Given the description of an element on the screen output the (x, y) to click on. 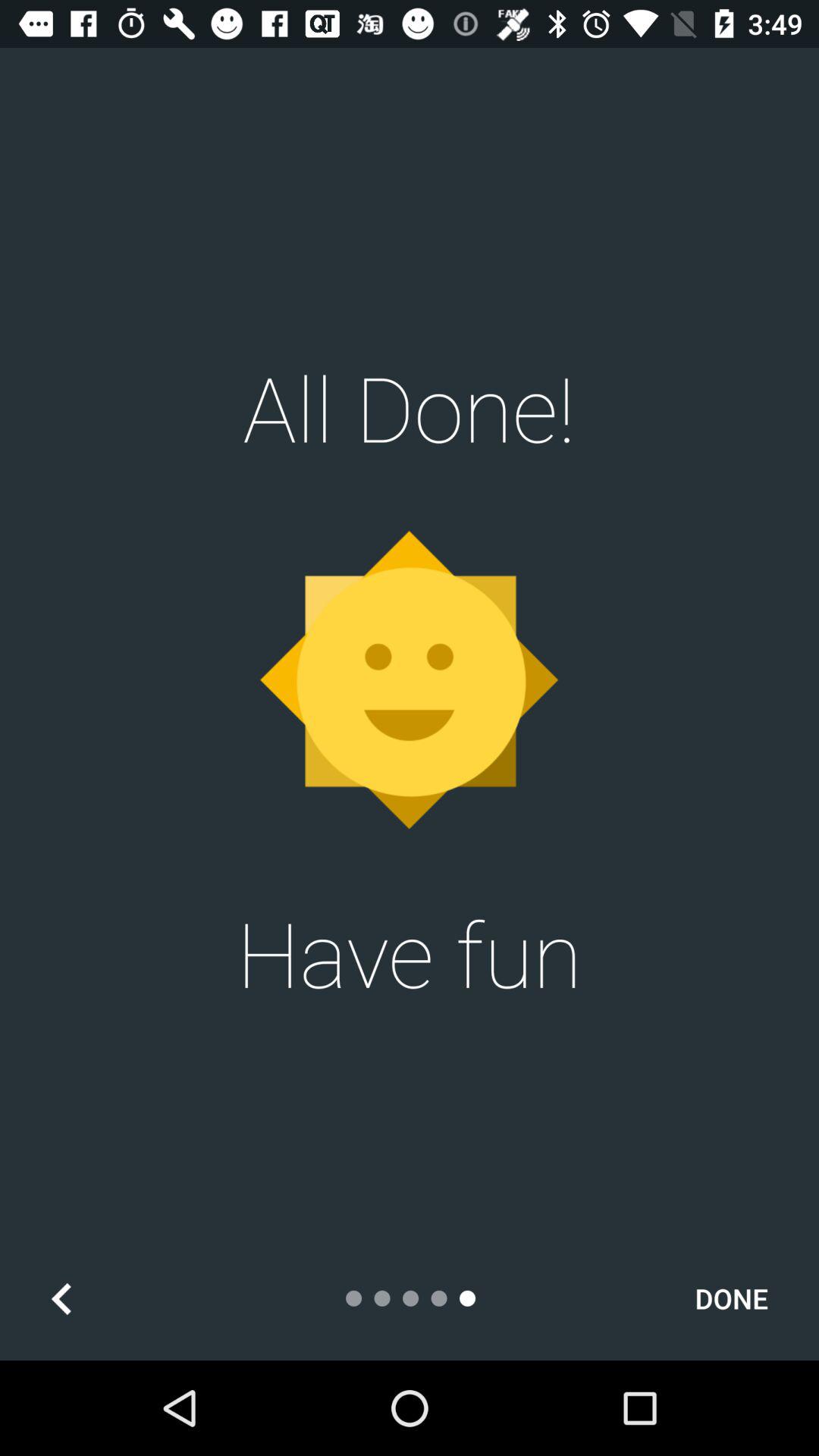
press the icon at the bottom left corner (61, 1298)
